Given the description of an element on the screen output the (x, y) to click on. 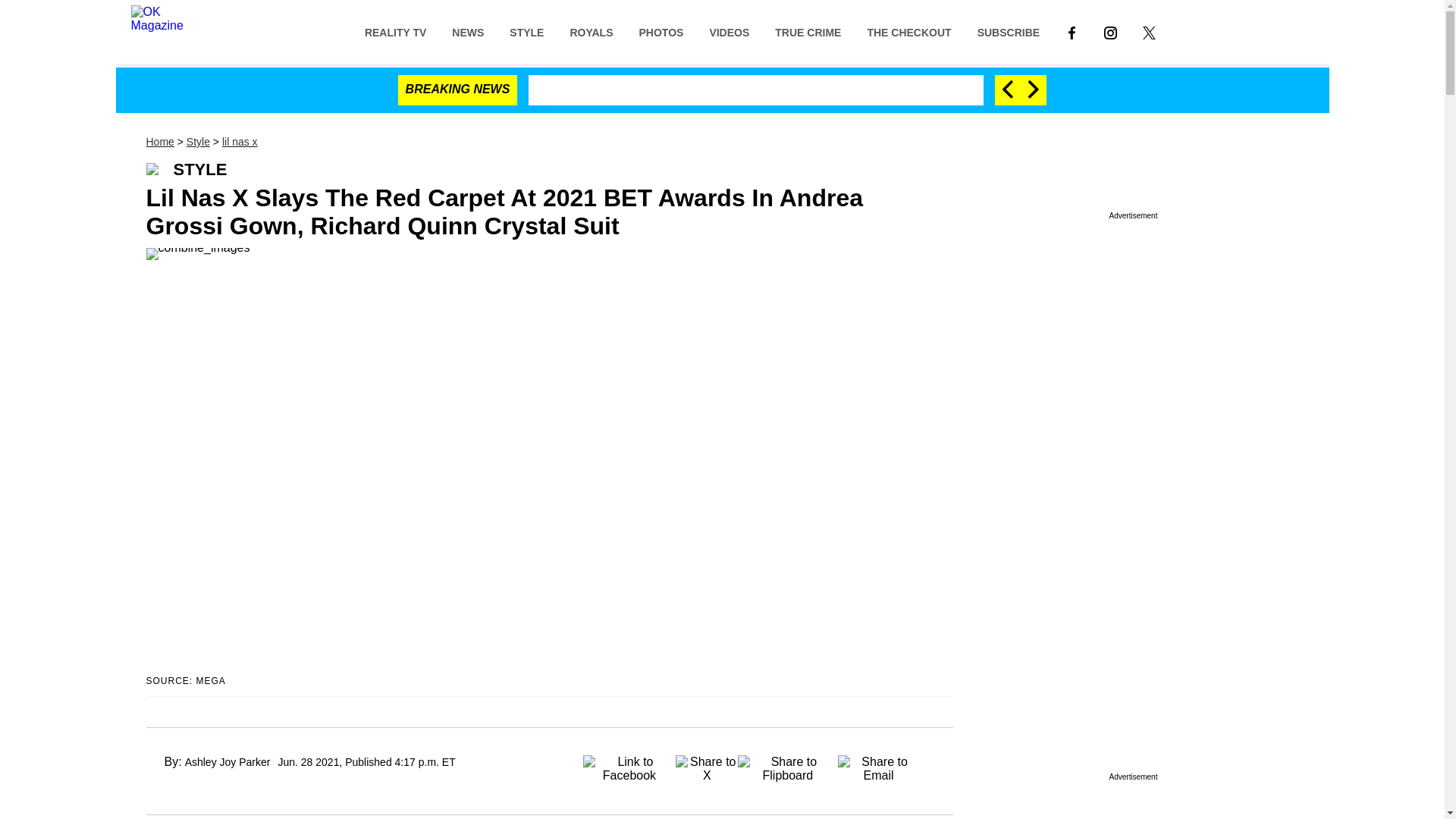
LINK TO FACEBOOK (1071, 31)
REALITY TV (395, 31)
VIDEOS (728, 31)
TRUE CRIME (807, 31)
NEWS (467, 31)
Share to Facebook (628, 764)
LINK TO INSTAGRAM (1109, 32)
STYLE (526, 31)
Home (159, 141)
Link to Instagram (1109, 31)
Link to X (1149, 31)
THE CHECKOUT (908, 31)
lil nas x (239, 141)
Share to Email (879, 764)
LINK TO X (1149, 32)
